Given the description of an element on the screen output the (x, y) to click on. 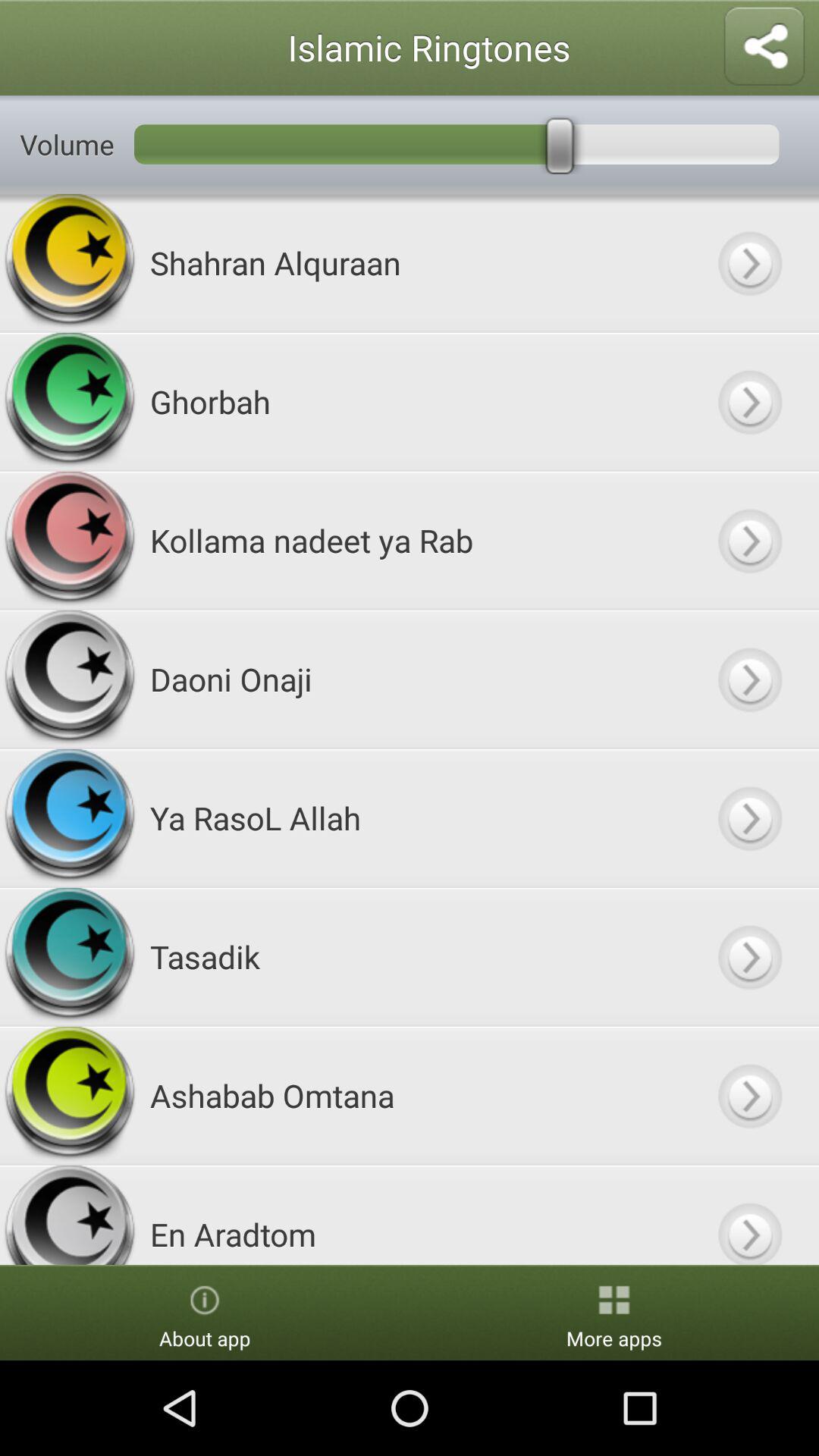
select switch (749, 262)
